Given the description of an element on the screen output the (x, y) to click on. 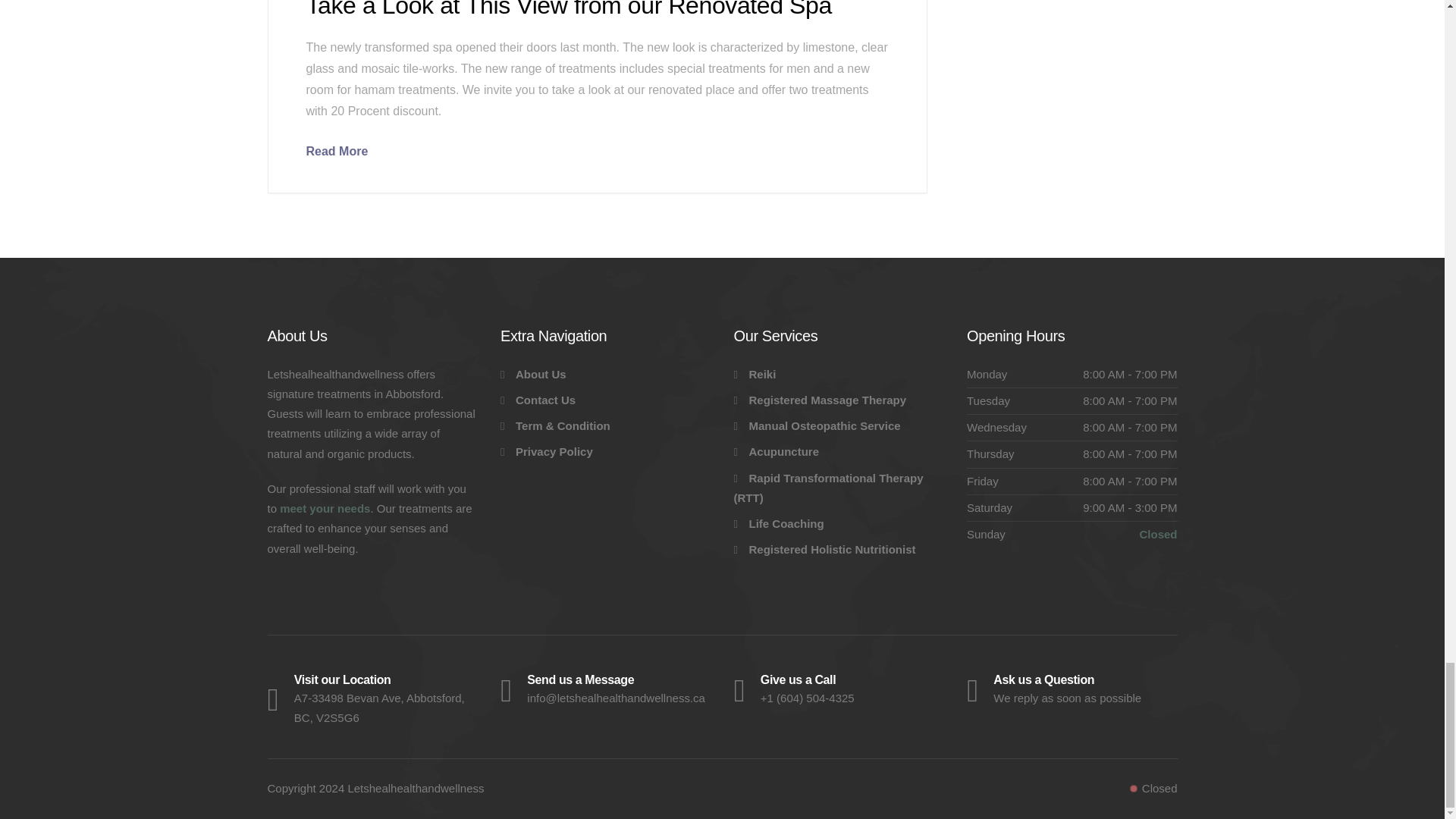
Take a Look at This View from our Renovated Spa (336, 151)
